Given the description of an element on the screen output the (x, y) to click on. 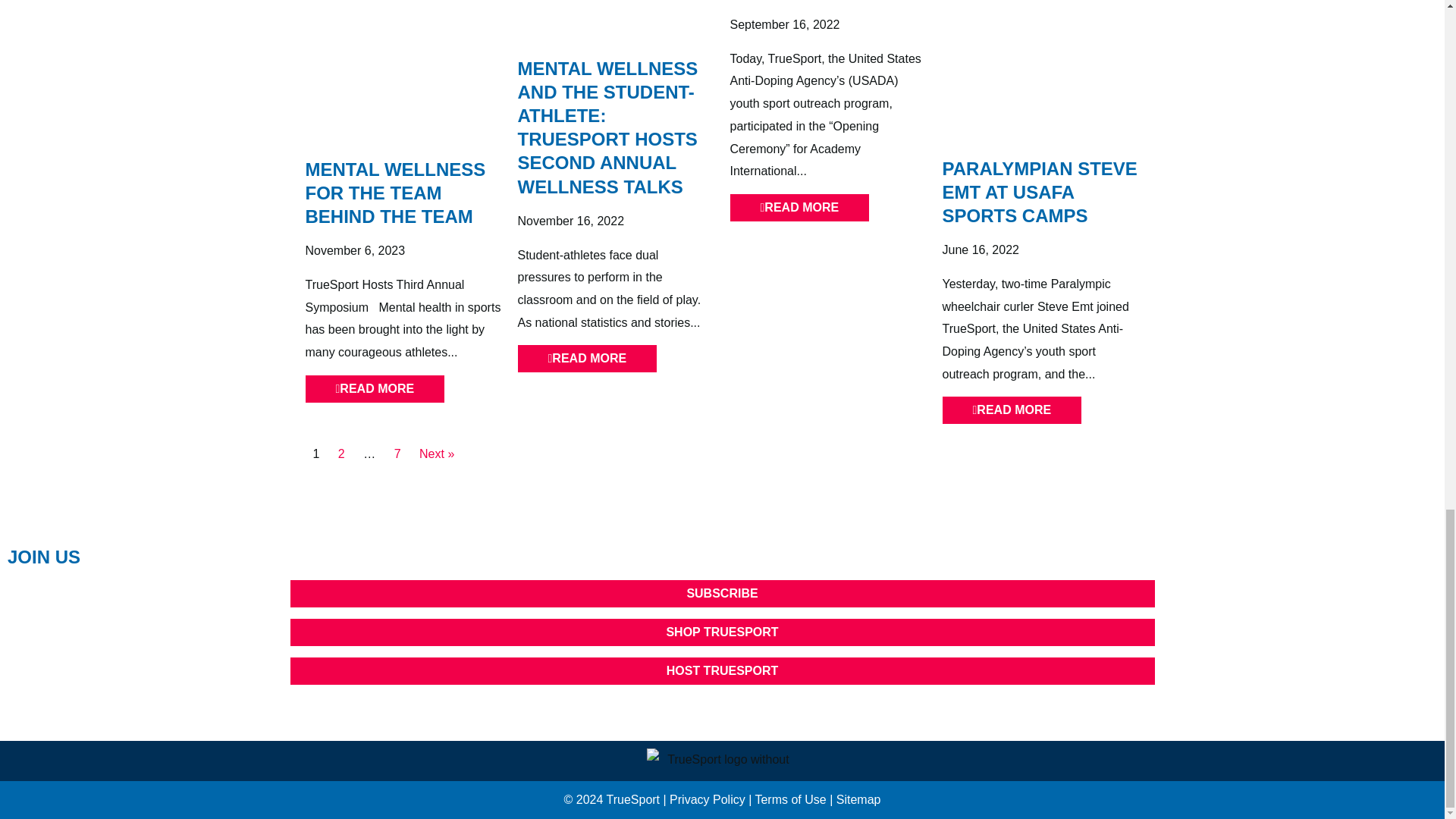
TrueSport logo without icon in white. (721, 762)
